Given the description of an element on the screen output the (x, y) to click on. 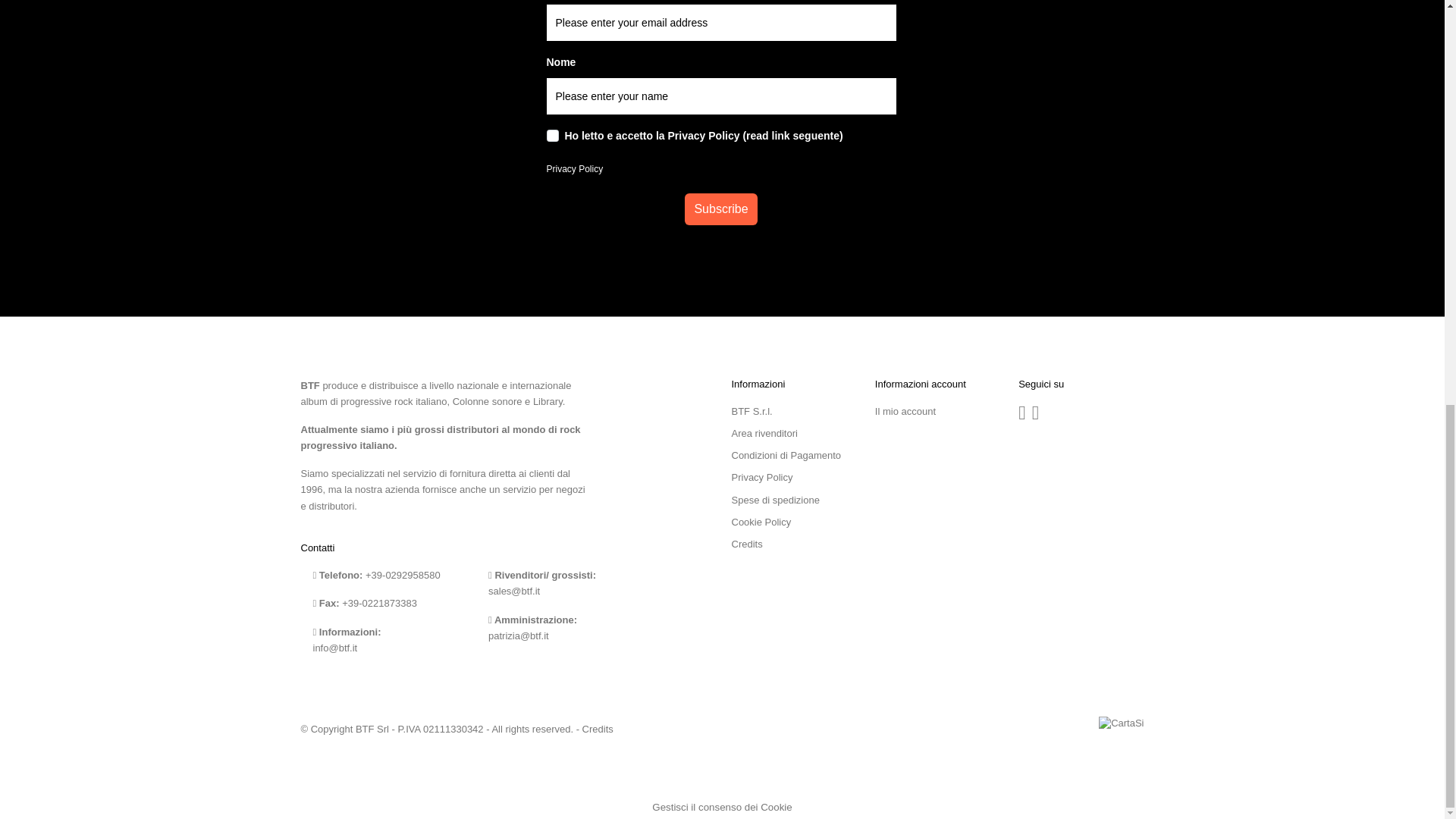
Realizzazione siti e-commerce (597, 728)
CartaSi (1117, 723)
Subscribe (720, 209)
